Given the description of an element on the screen output the (x, y) to click on. 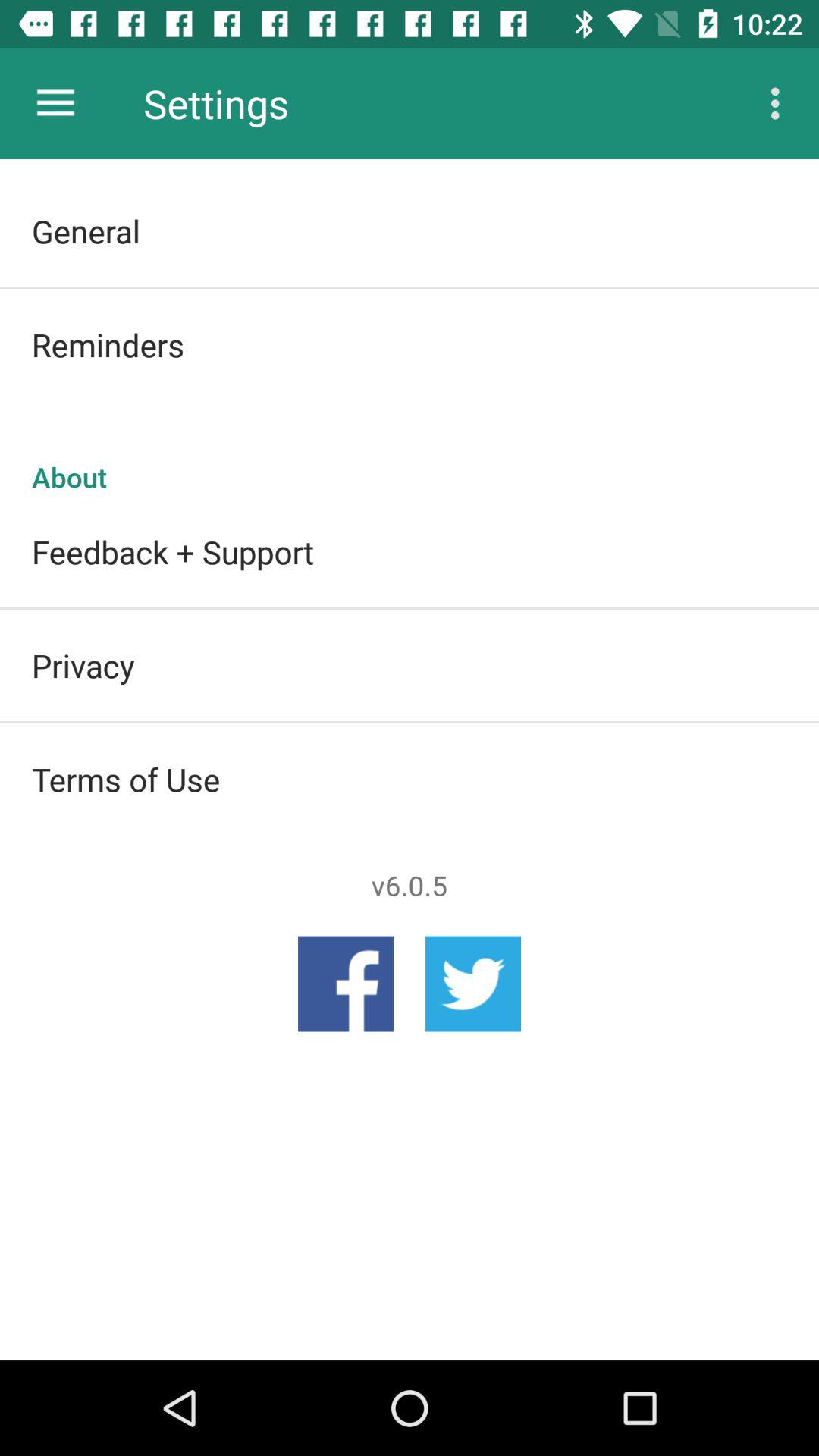
jump until the feedback + support (409, 551)
